Given the description of an element on the screen output the (x, y) to click on. 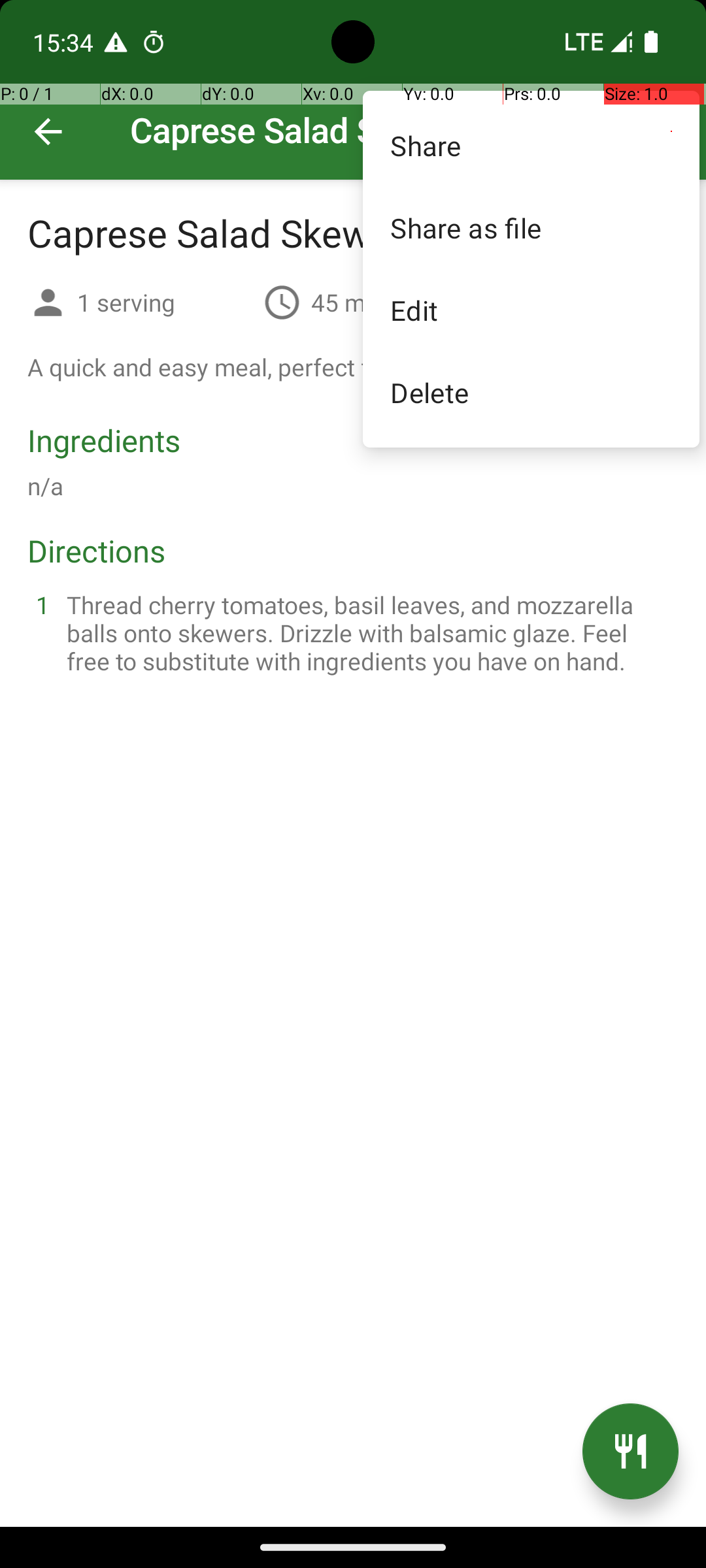
Share as file Element type: android.widget.TextView (531, 227)
Edit Element type: android.widget.TextView (531, 309)
